Given the description of an element on the screen output the (x, y) to click on. 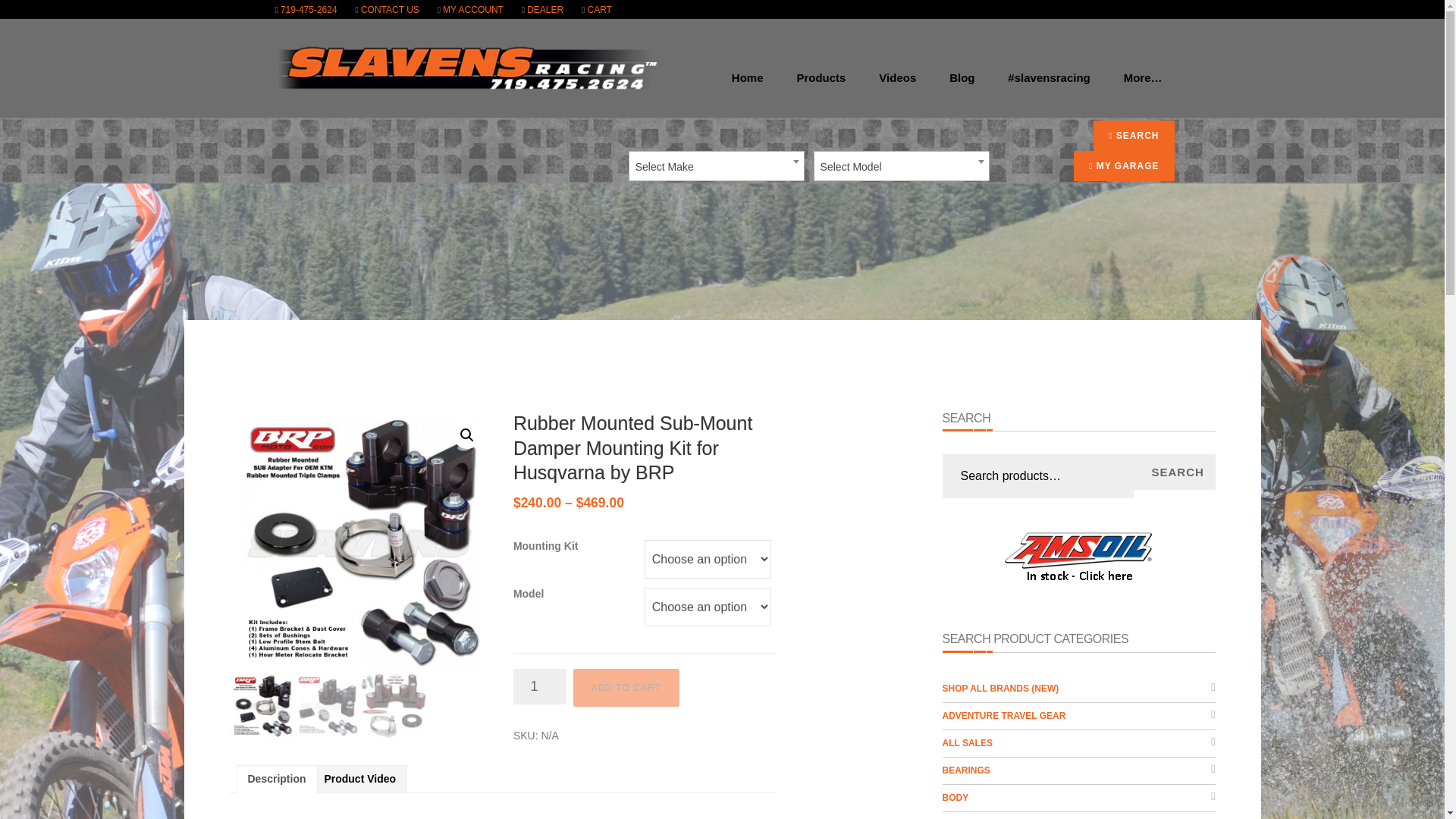
Blog (962, 86)
MY ACCOUNT (470, 9)
Products (820, 86)
Videos (897, 86)
DEALER (541, 9)
CART (596, 9)
Home (747, 86)
CONTACT US (386, 9)
Select Make (715, 166)
719-475-2624 (304, 9)
Select Model (900, 166)
ADD TO CART (626, 687)
BRDM-901616-26 (360, 542)
SLAVENS RACING (464, 67)
